Given the description of an element on the screen output the (x, y) to click on. 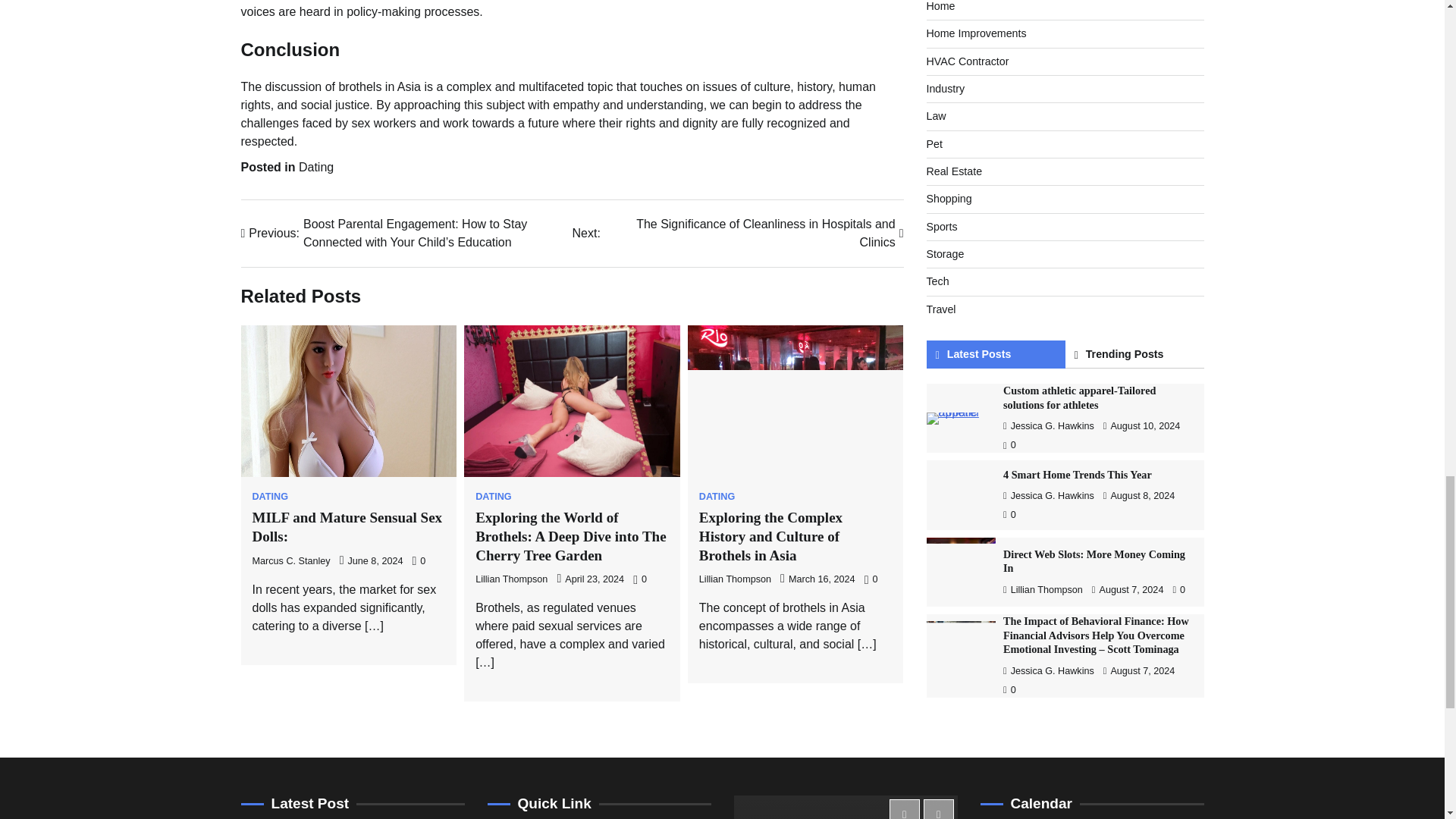
Marcus C. Stanley (290, 561)
Dating (315, 166)
Lillian Thompson (734, 579)
DATING (493, 497)
Lillian Thompson (511, 579)
MILF and Mature Sensual Sex Dolls: (346, 526)
DATING (268, 497)
DATING (716, 497)
